Given the description of an element on the screen output the (x, y) to click on. 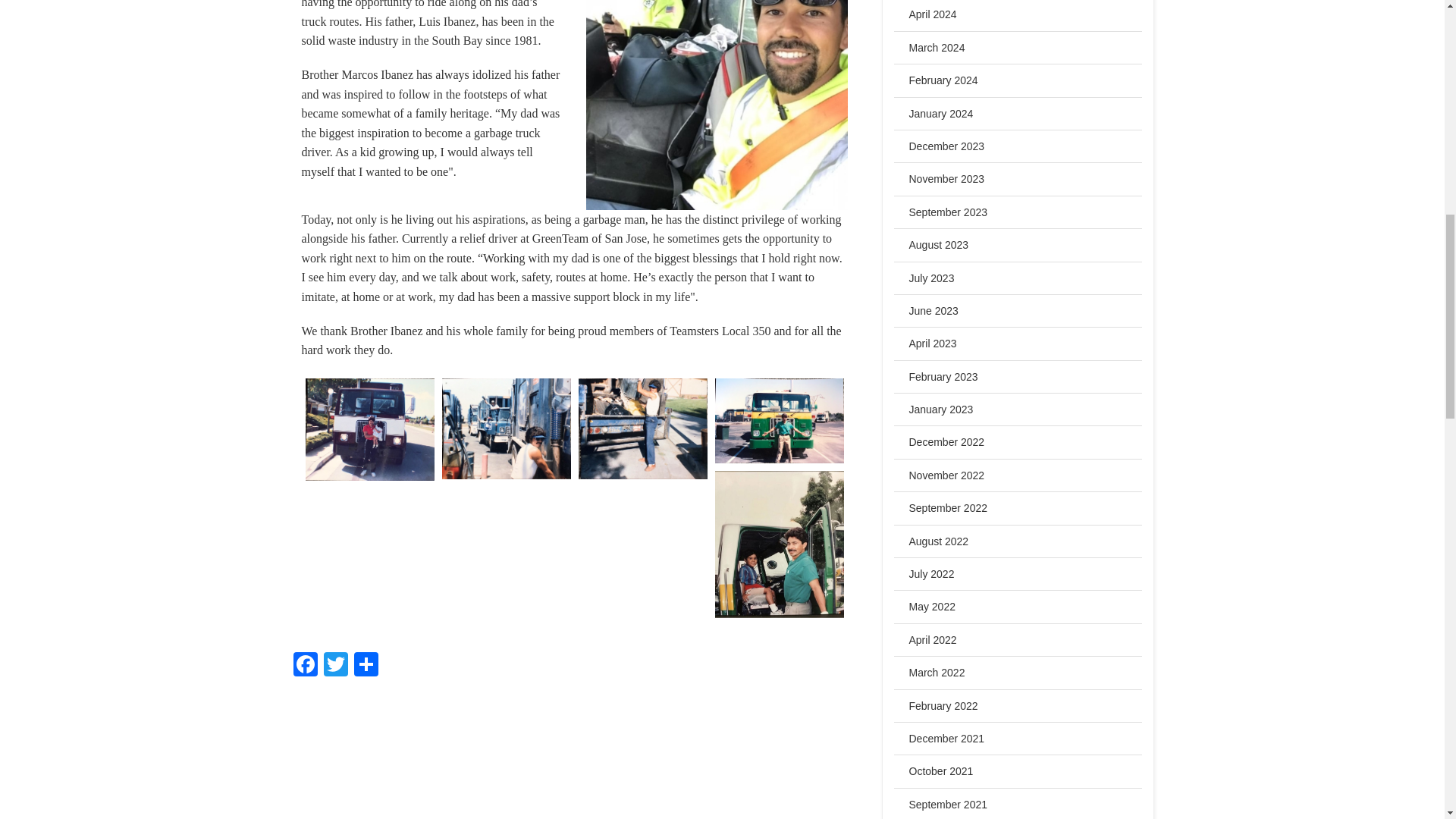
Twitter (335, 665)
Facebook (304, 665)
